Given the description of an element on the screen output the (x, y) to click on. 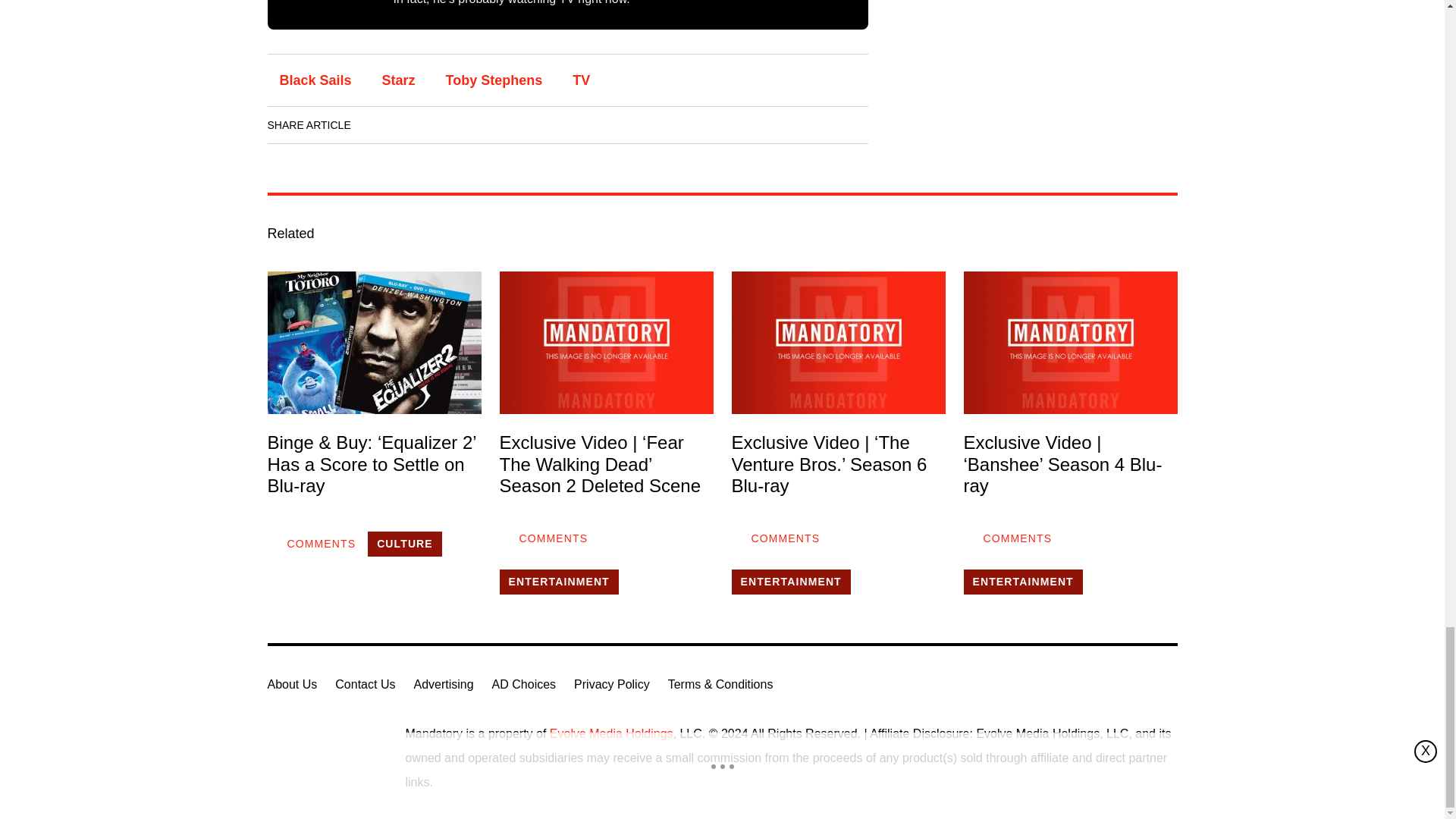
Pinterest (505, 125)
Twitter (463, 125)
Black Sails (314, 80)
Starz (398, 80)
Facebook (377, 125)
Toby Stephens (493, 80)
LinkedIn (420, 125)
TV (581, 80)
